Given the description of an element on the screen output the (x, y) to click on. 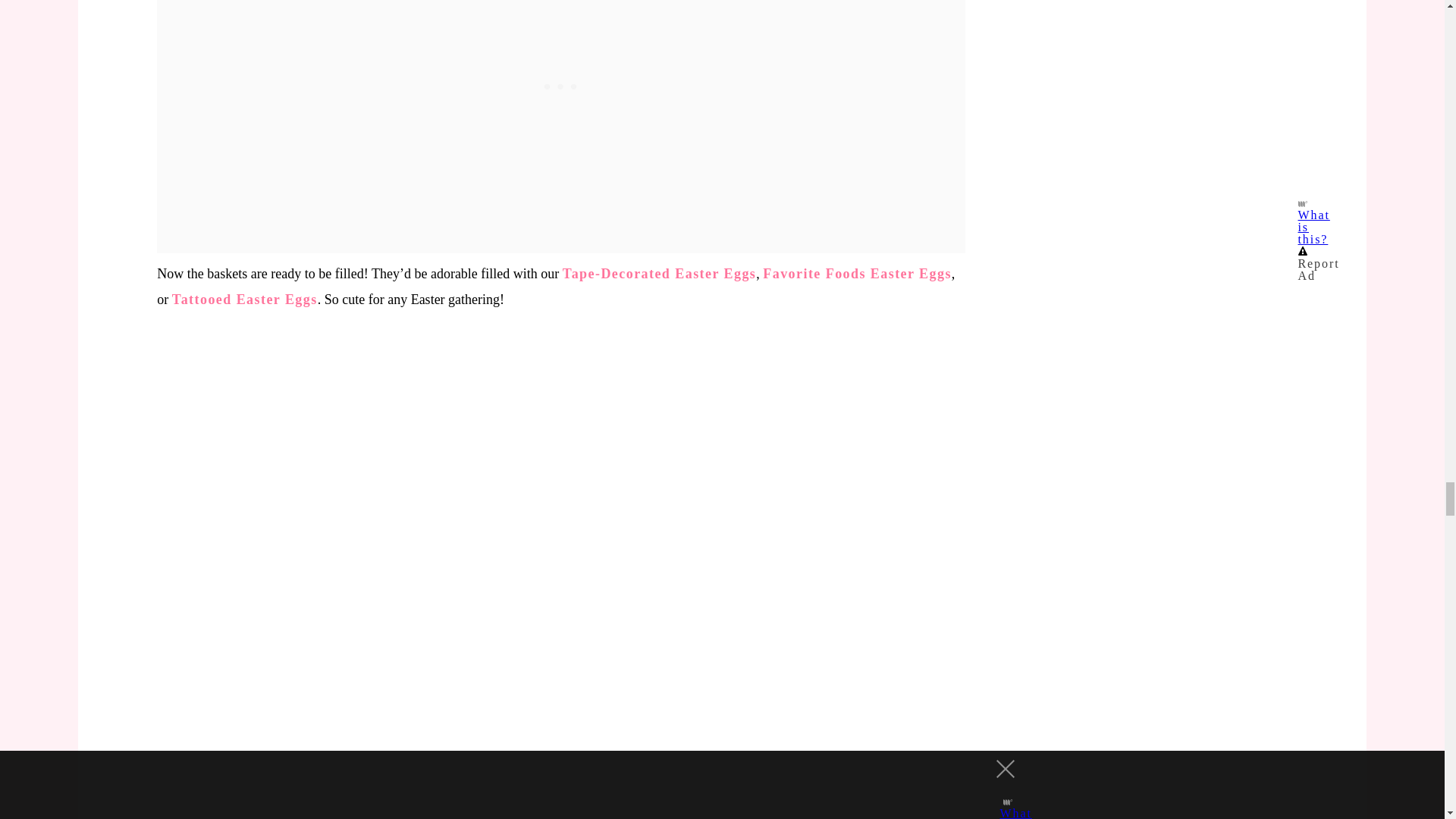
Favorite Foods Easter Eggs (857, 273)
Tattooed Easter Eggs (244, 299)
Tape-Decorated Easter Eggs (658, 273)
